Given the description of an element on the screen output the (x, y) to click on. 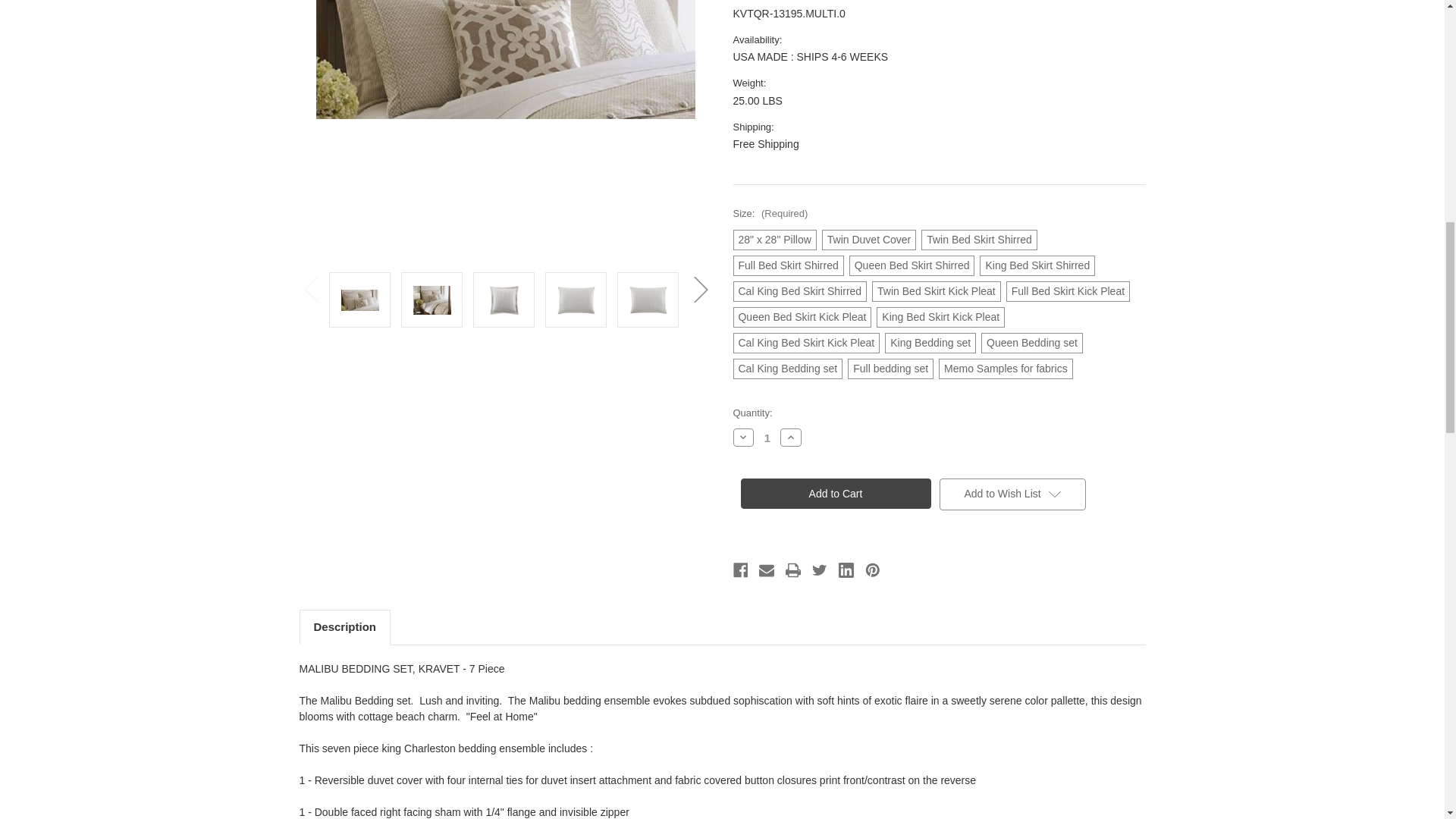
7 Piece Malibu Bedding (504, 130)
